Given the description of an element on the screen output the (x, y) to click on. 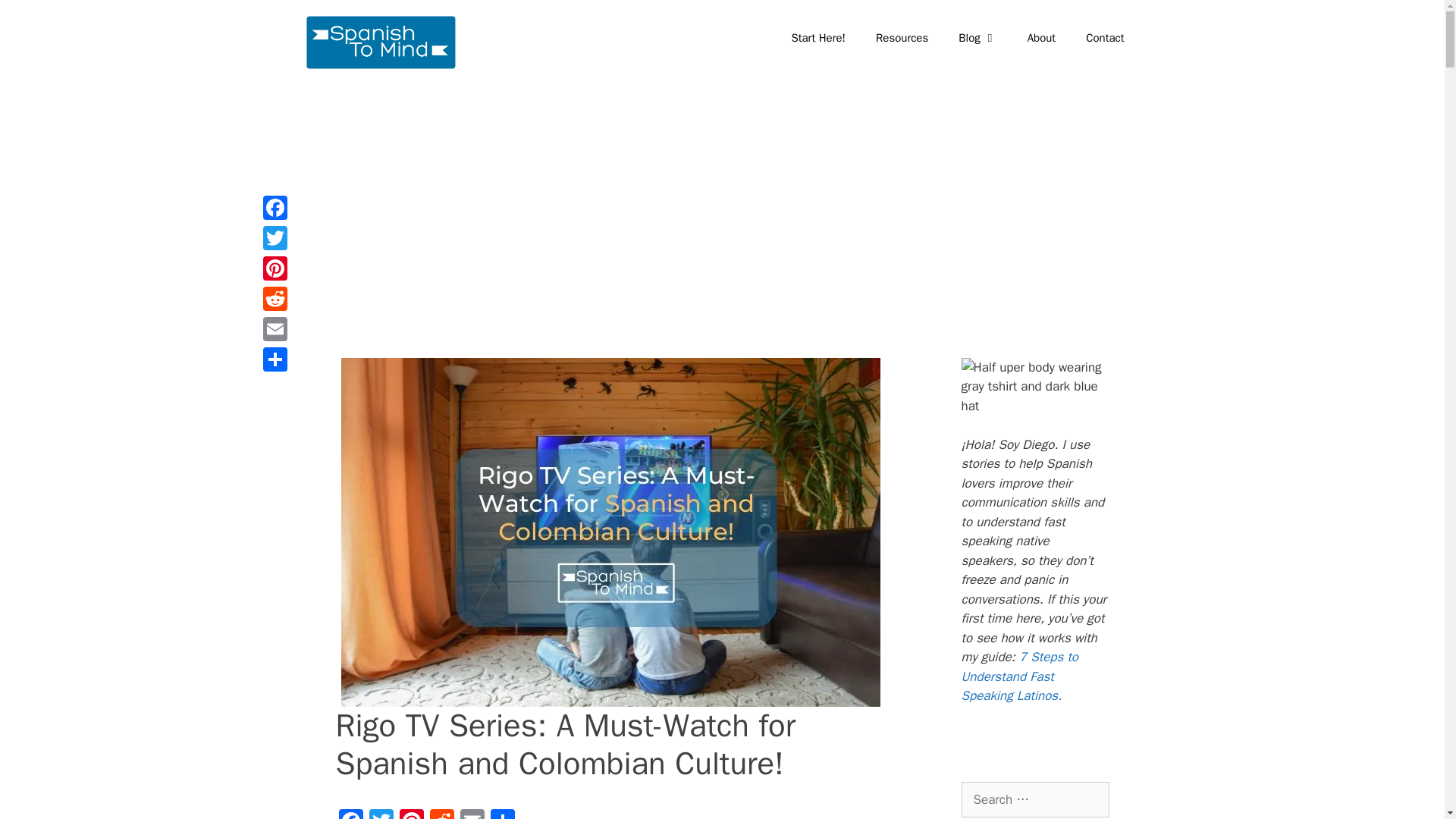
Share (501, 814)
Resources (901, 37)
Email (471, 814)
Facebook (349, 814)
Twitter (380, 814)
Twitter (380, 814)
Pinterest (411, 814)
Pinterest (411, 814)
Blog (977, 37)
Start Here! (818, 37)
